Given the description of an element on the screen output the (x, y) to click on. 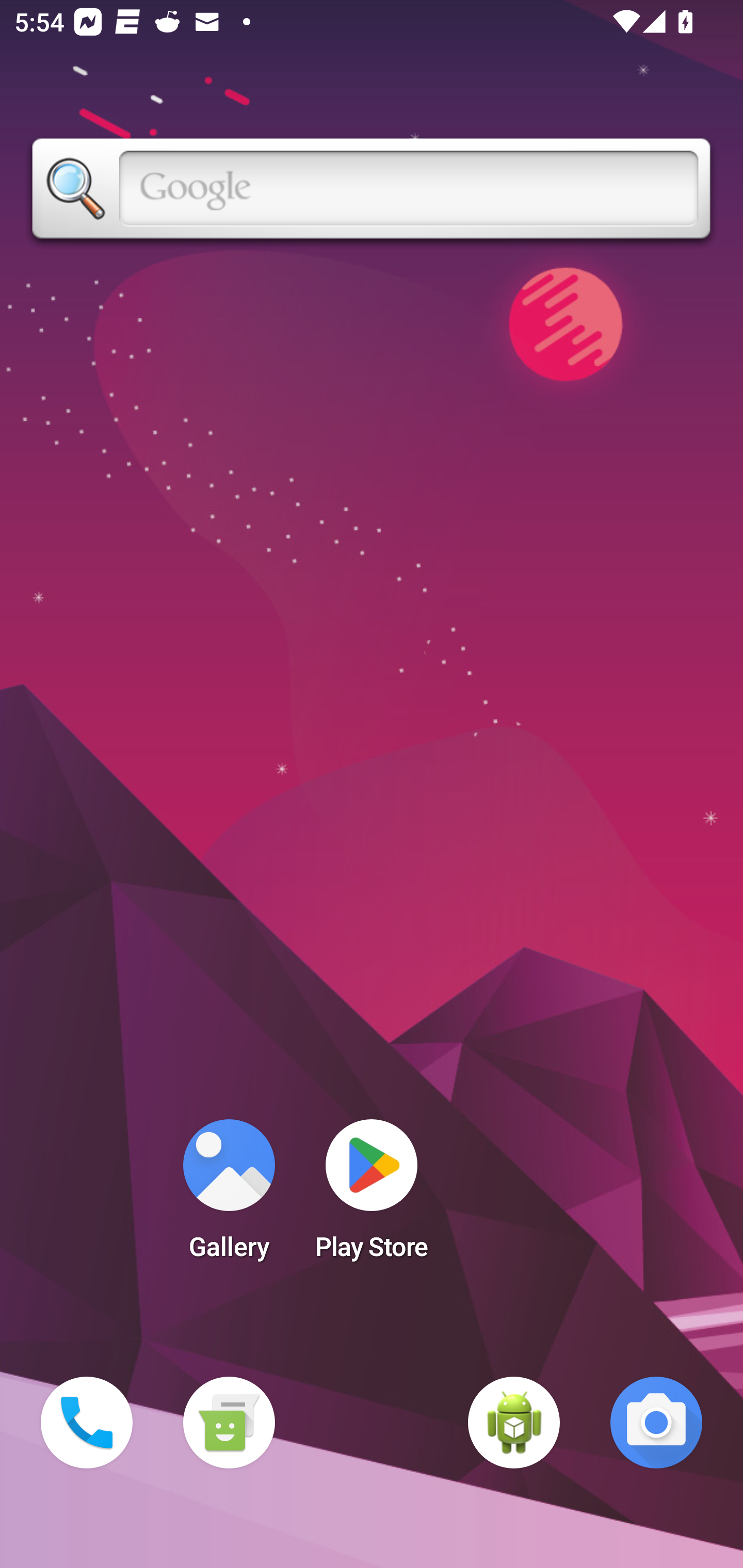
Gallery (228, 1195)
Play Store (371, 1195)
Phone (86, 1422)
Messaging (228, 1422)
WebView Browser Tester (513, 1422)
Camera (656, 1422)
